Given the description of an element on the screen output the (x, y) to click on. 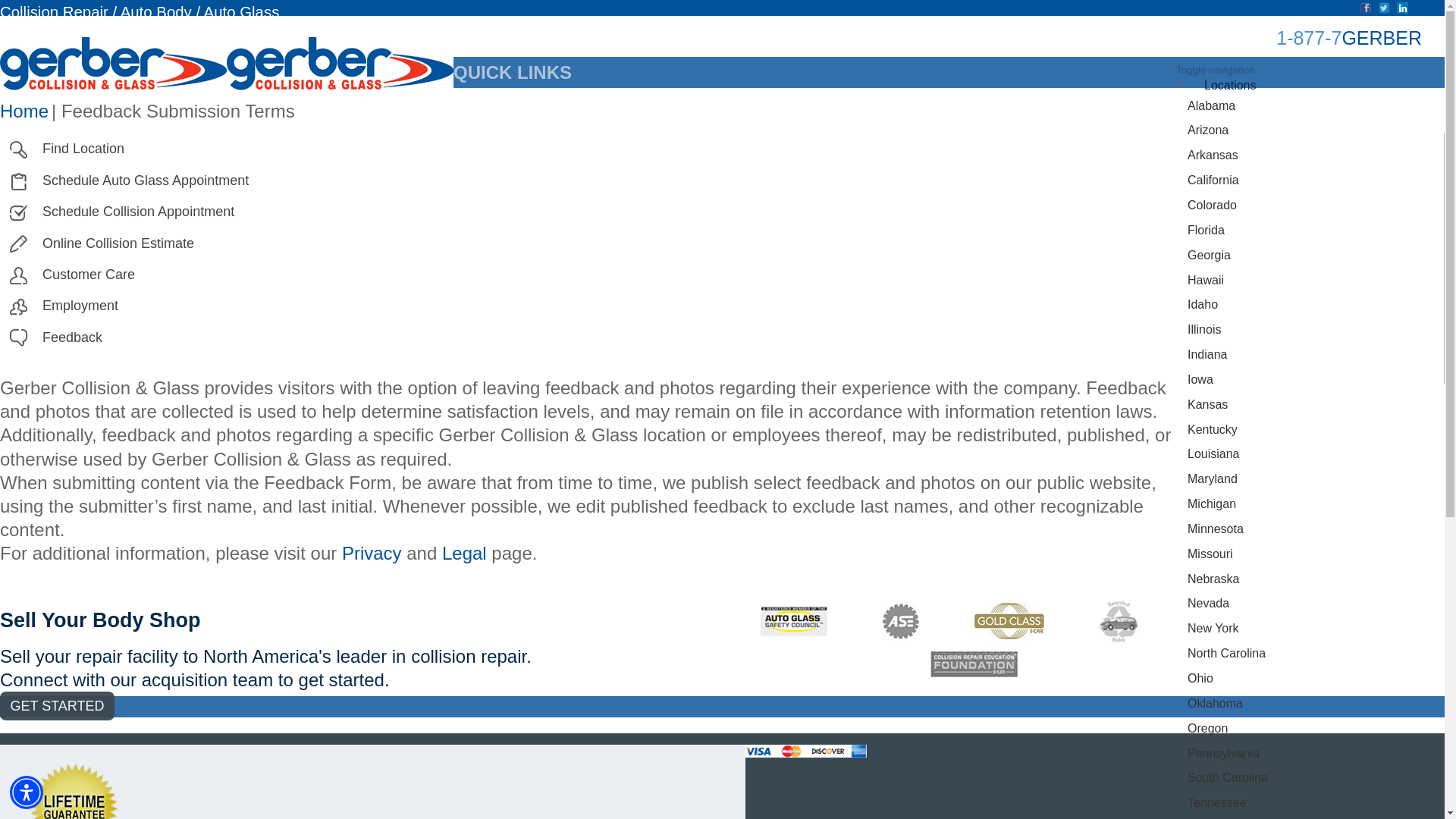
Accessibility Menu (26, 792)
LinkedIn (1401, 7)
Toggle navigation (1215, 70)
Locations (1230, 84)
Twitter (1384, 7)
Facebook (1365, 7)
